Given the description of an element on the screen output the (x, y) to click on. 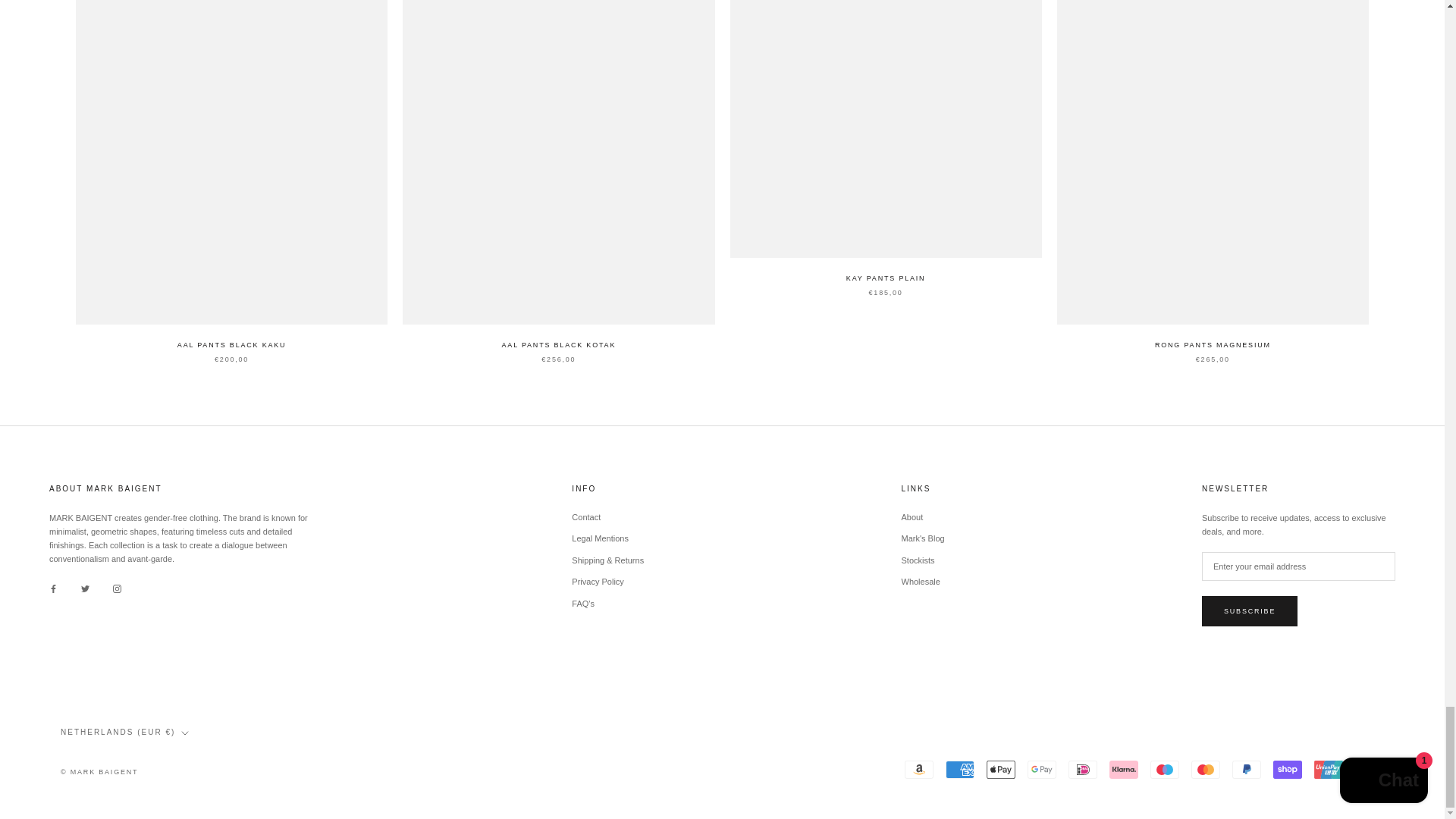
PayPal (1245, 769)
Google Pay (1042, 769)
Amazon (918, 769)
Mastercard (1205, 769)
Shop Pay (1286, 769)
American Express (959, 769)
Union Pay (1328, 769)
iDEAL (1082, 769)
Visa (1369, 769)
Apple Pay (1000, 769)
Klarna (1123, 769)
Maestro (1164, 769)
